Given the description of an element on the screen output the (x, y) to click on. 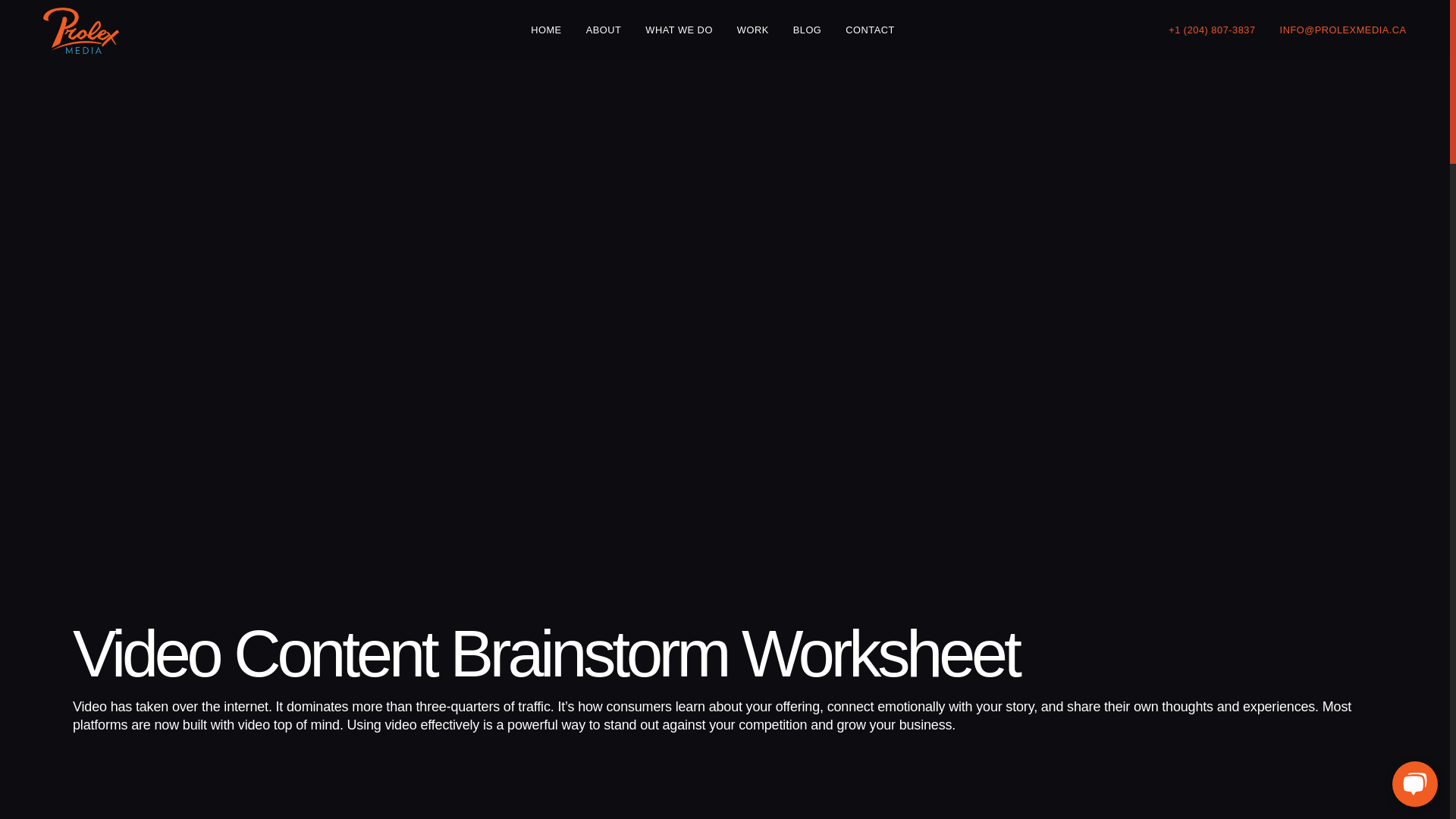
WHAT WE DO (679, 30)
BLOG (807, 30)
HOME (545, 30)
WORK (752, 30)
CONTACT (869, 30)
ABOUT (603, 30)
